Given the description of an element on the screen output the (x, y) to click on. 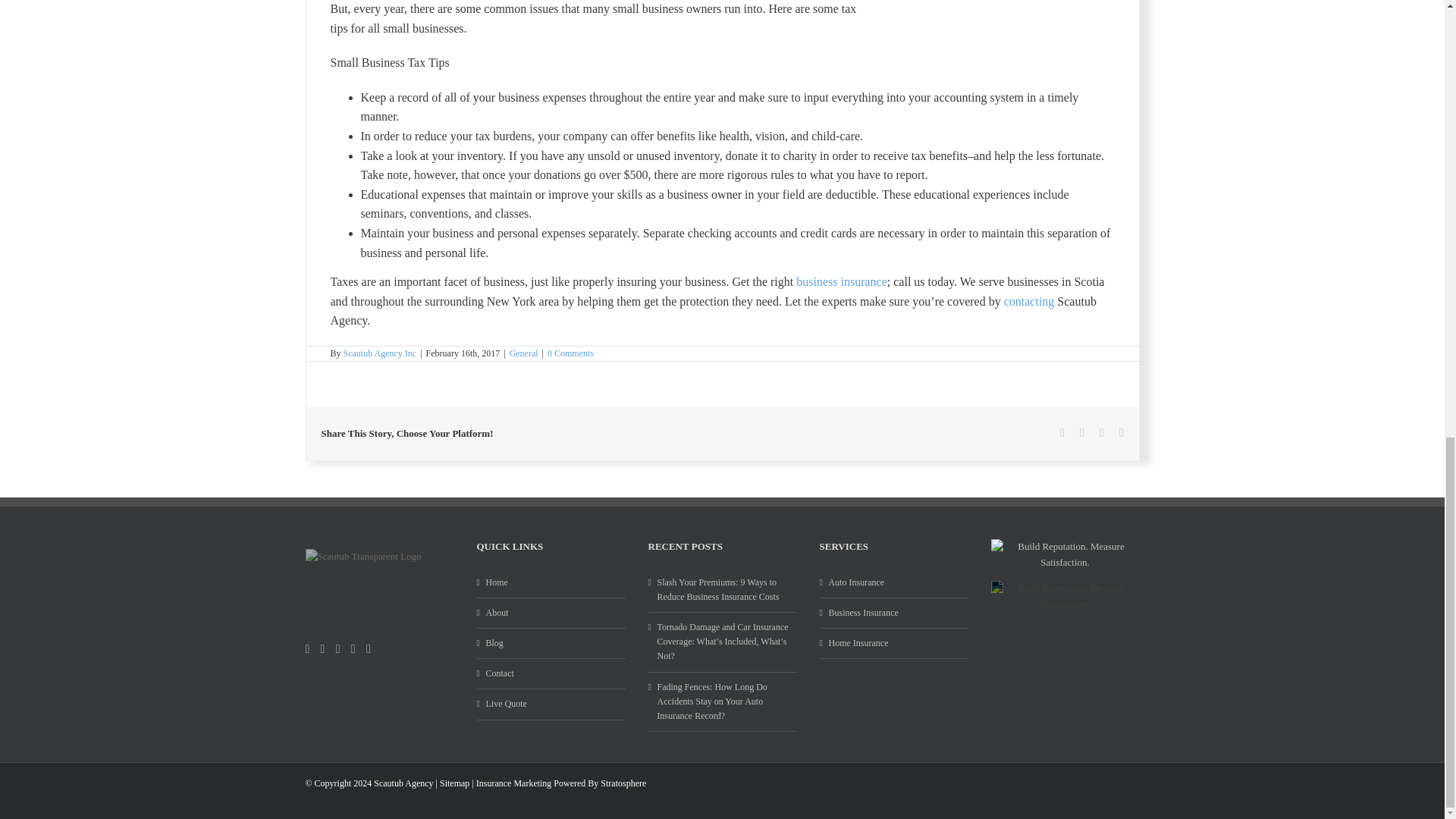
Posts by Scautub Agency Inc (379, 353)
